Given the description of an element on the screen output the (x, y) to click on. 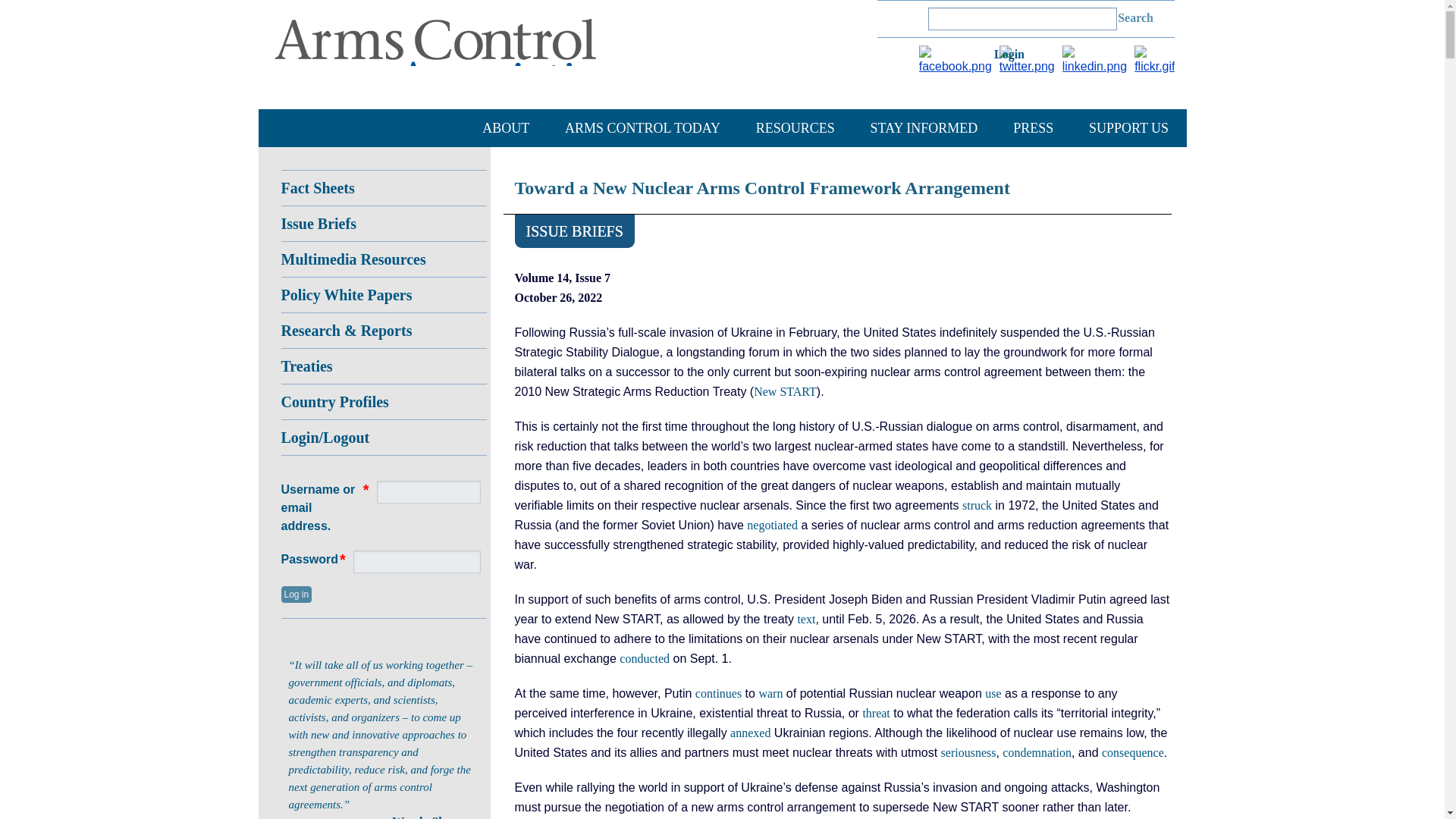
ABOUT (505, 127)
Enter the terms you wish to search for. (1022, 18)
RESOURCES (794, 127)
Log in (1015, 57)
Search (1136, 18)
STAY INFORMED (923, 127)
Home (451, 56)
ARMS CONTROL TODAY (642, 127)
